Given the description of an element on the screen output the (x, y) to click on. 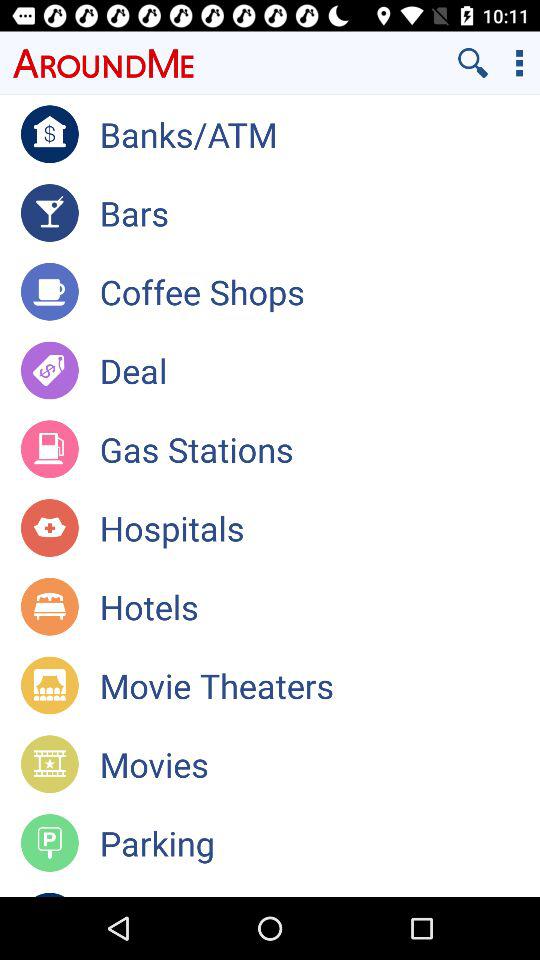
open the deal app (319, 370)
